Given the description of an element on the screen output the (x, y) to click on. 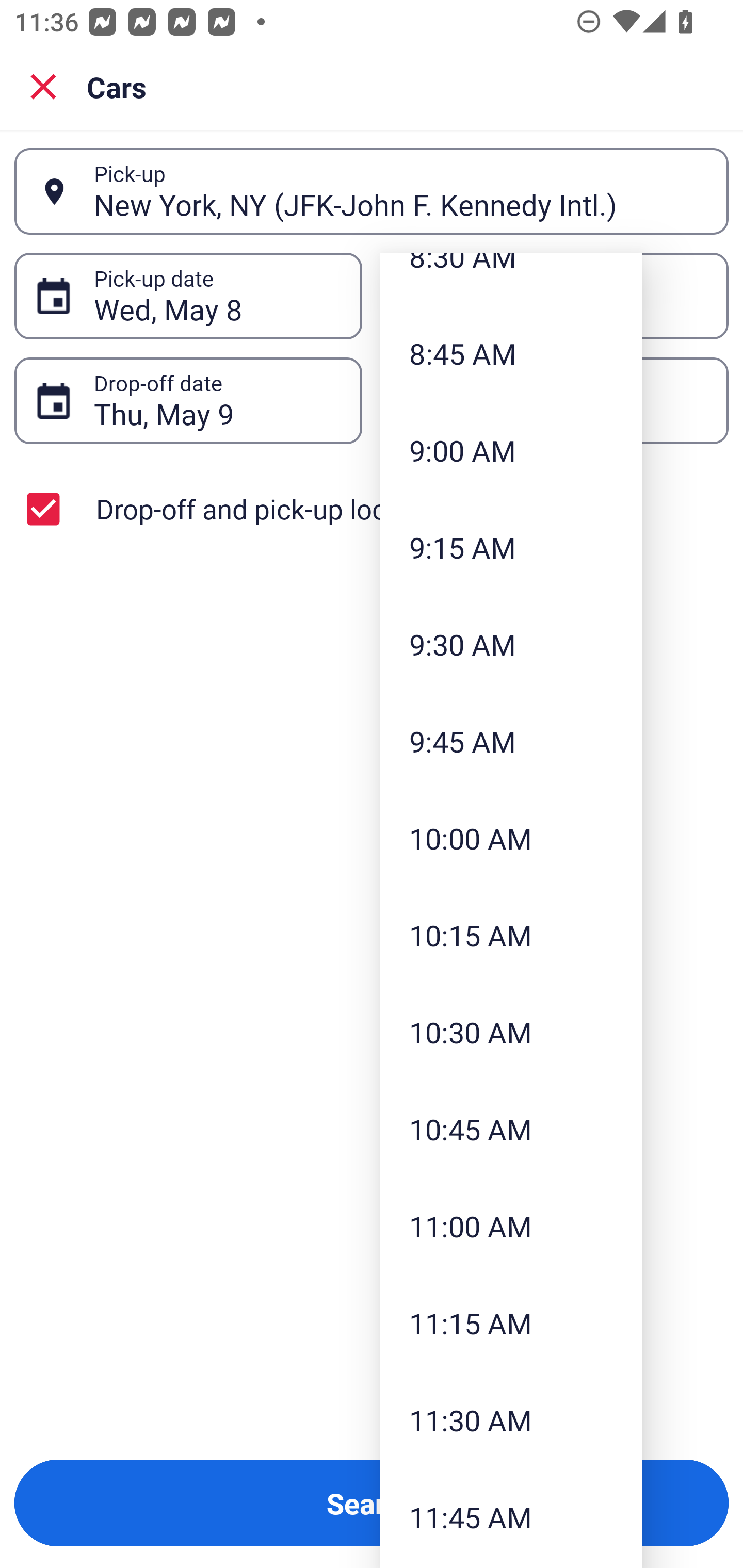
8:45 AM (510, 352)
9:00 AM (510, 449)
9:15 AM (510, 546)
9:30 AM (510, 644)
9:45 AM (510, 741)
10:00 AM (510, 837)
10:15 AM (510, 934)
10:30 AM (510, 1031)
10:45 AM (510, 1128)
11:00 AM (510, 1225)
11:15 AM (510, 1323)
11:30 AM (510, 1420)
11:45 AM (510, 1516)
